Given the description of an element on the screen output the (x, y) to click on. 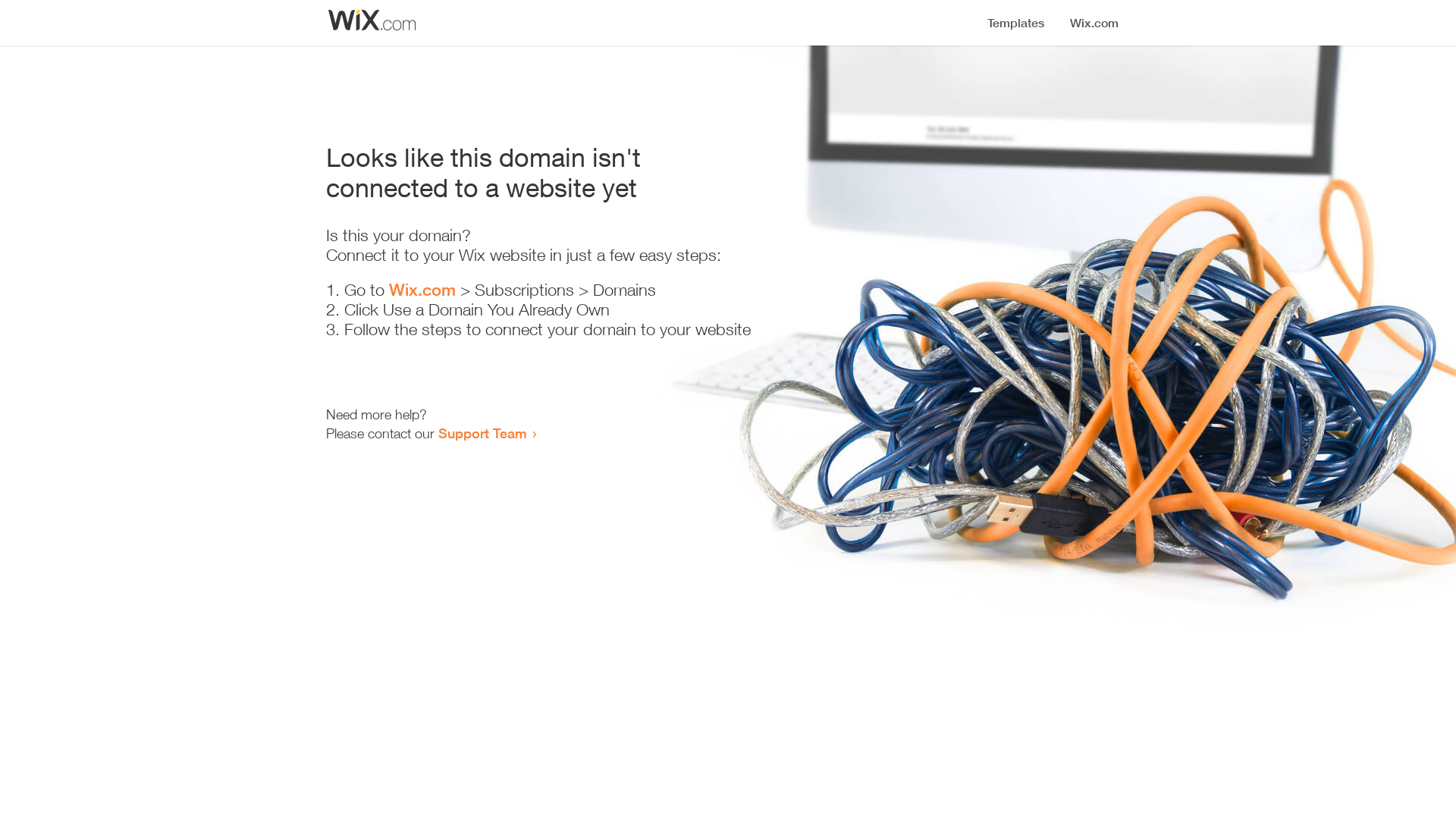
Support Team Element type: text (482, 432)
Wix.com Element type: text (422, 289)
